Given the description of an element on the screen output the (x, y) to click on. 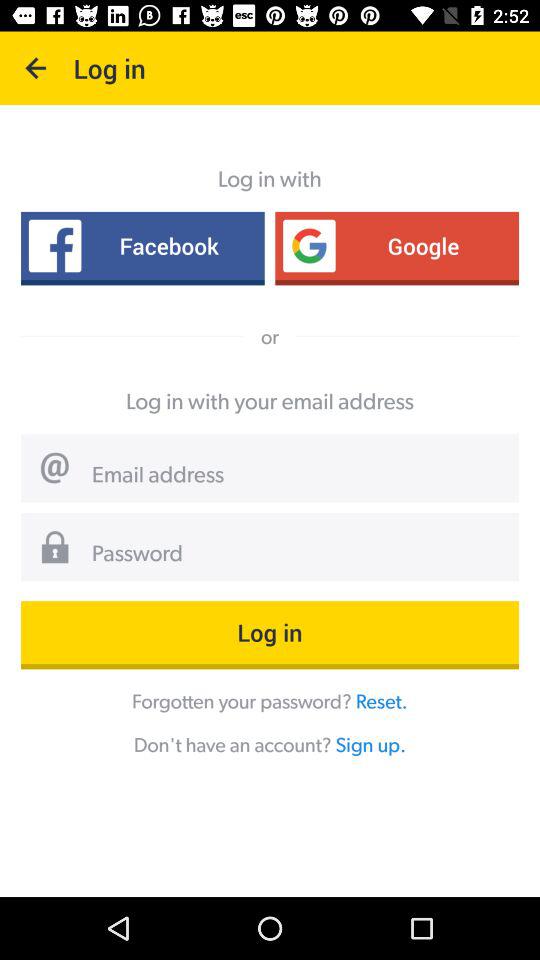
choose icon below the log in with (142, 245)
